Given the description of an element on the screen output the (x, y) to click on. 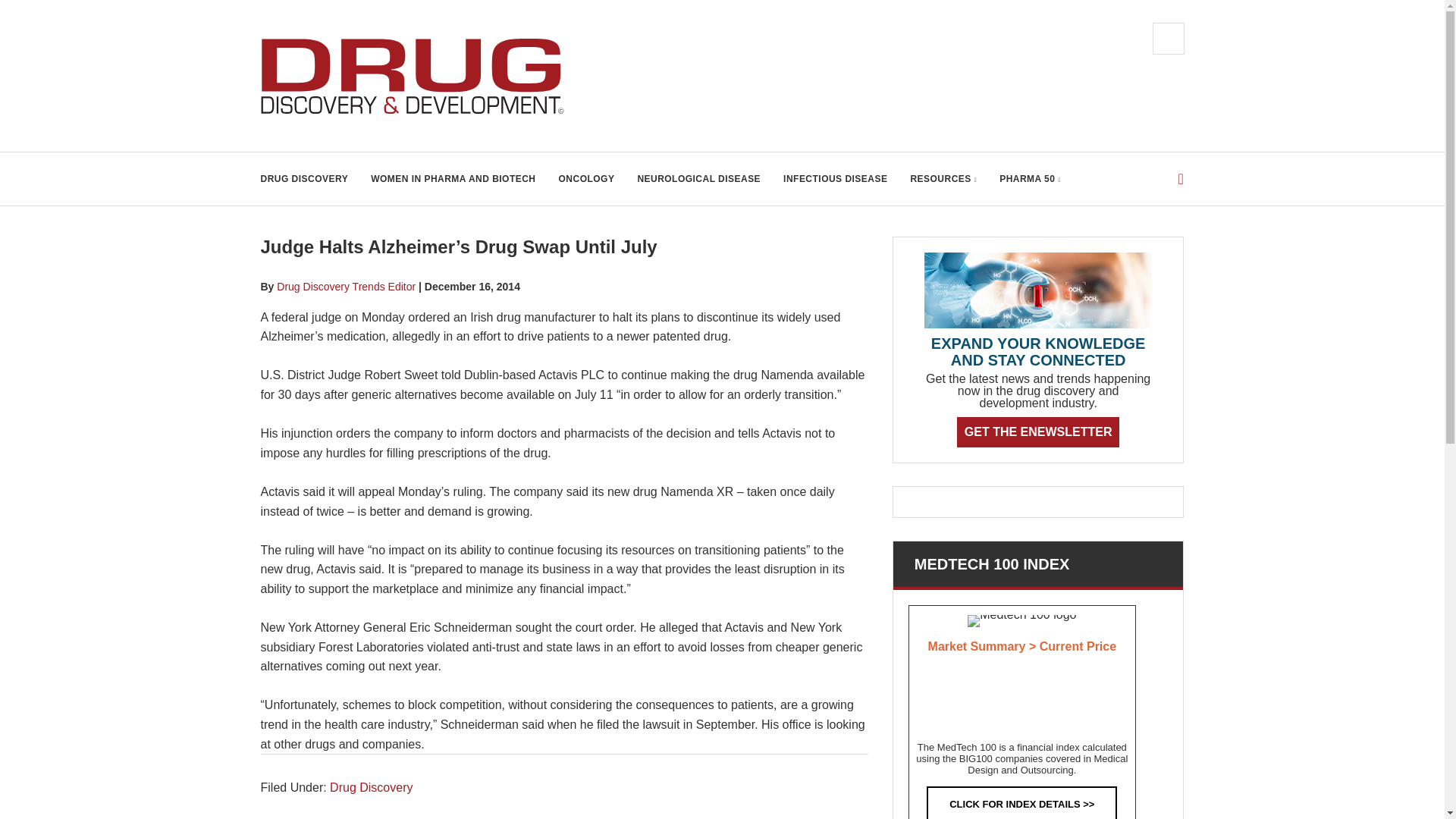
GET THE ENEWSLETTER (1037, 431)
NEUROLOGICAL DISEASE (698, 178)
INFECTIOUS DISEASE (834, 178)
ONCOLOGY (586, 178)
GET THE ENEWSLETTER (1037, 431)
Drug Discovery and Development (412, 75)
PHARMA 50 (1029, 178)
Drug Discovery Trends Editor (345, 286)
WOMEN IN PHARMA AND BIOTECH (453, 178)
Drug Discovery (371, 787)
